Given the description of an element on the screen output the (x, y) to click on. 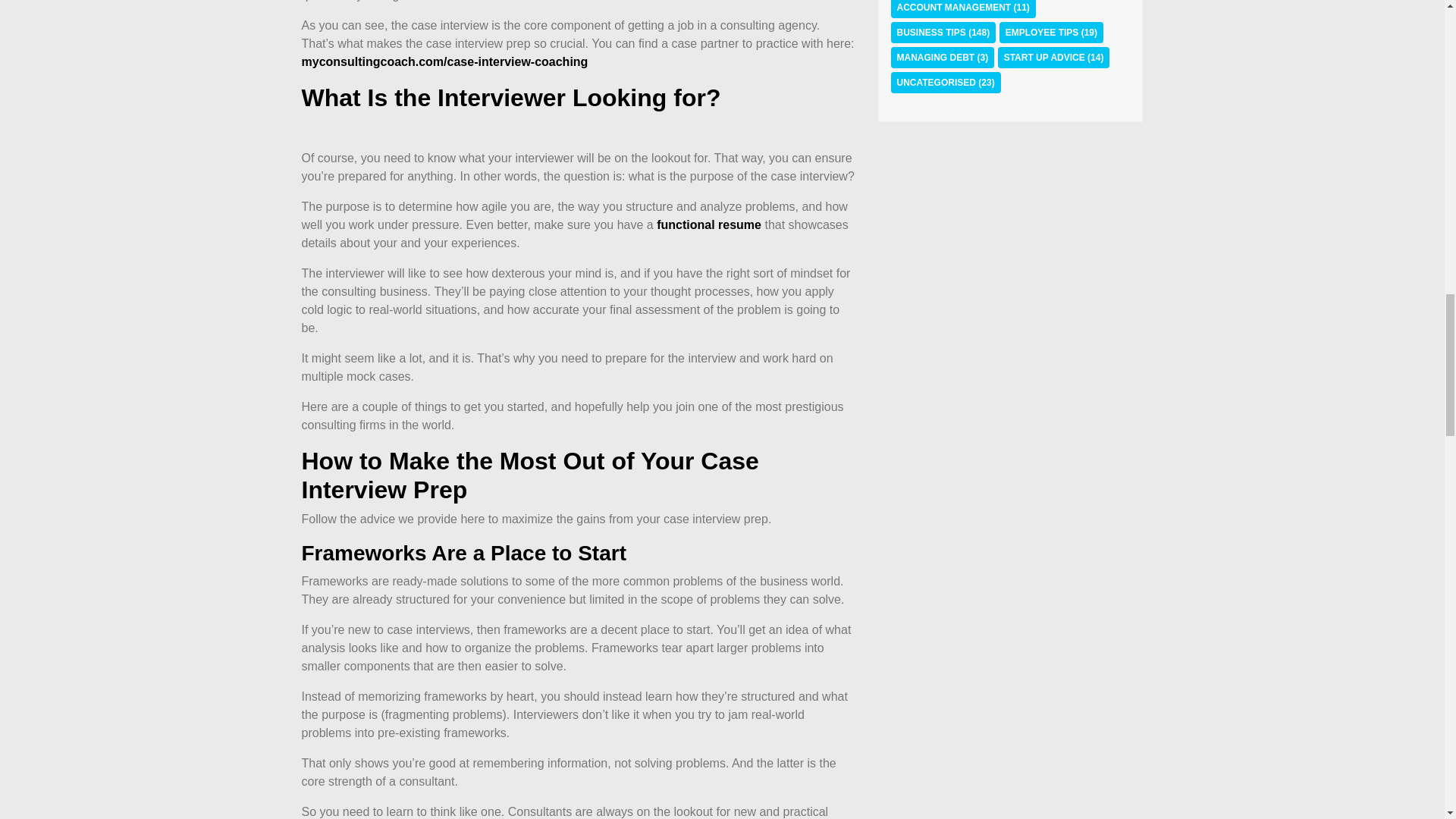
MANAGING DEBT (935, 57)
ACCOUNT MANAGEMENT (953, 7)
EMPLOYEE TIPS (1042, 32)
BUSINESS TIPS (930, 32)
START UP ADVICE (1044, 57)
UNCATEGORISED (935, 81)
functional resume (708, 224)
